Given the description of an element on the screen output the (x, y) to click on. 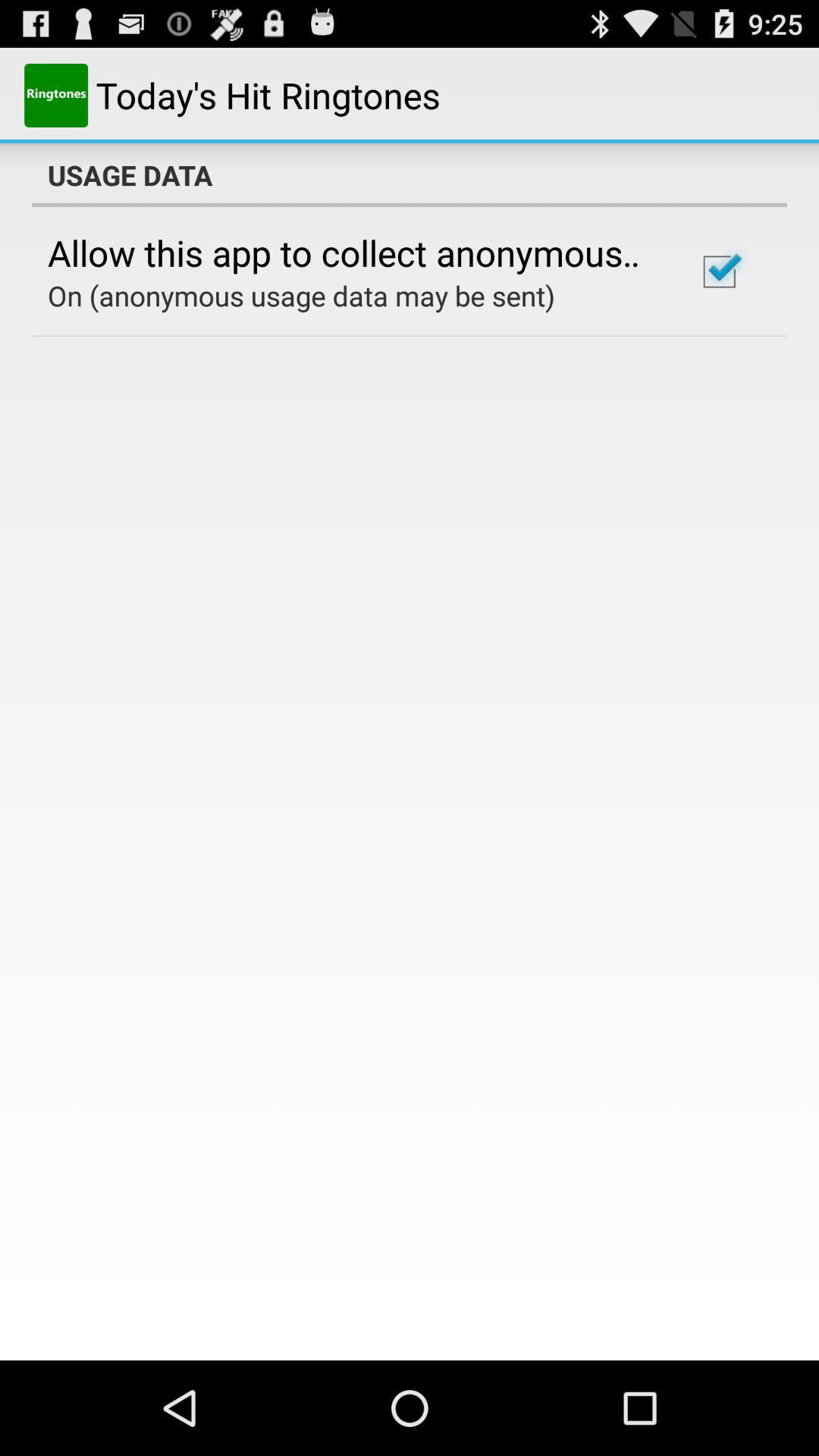
click icon above on anonymous usage icon (351, 252)
